Given the description of an element on the screen output the (x, y) to click on. 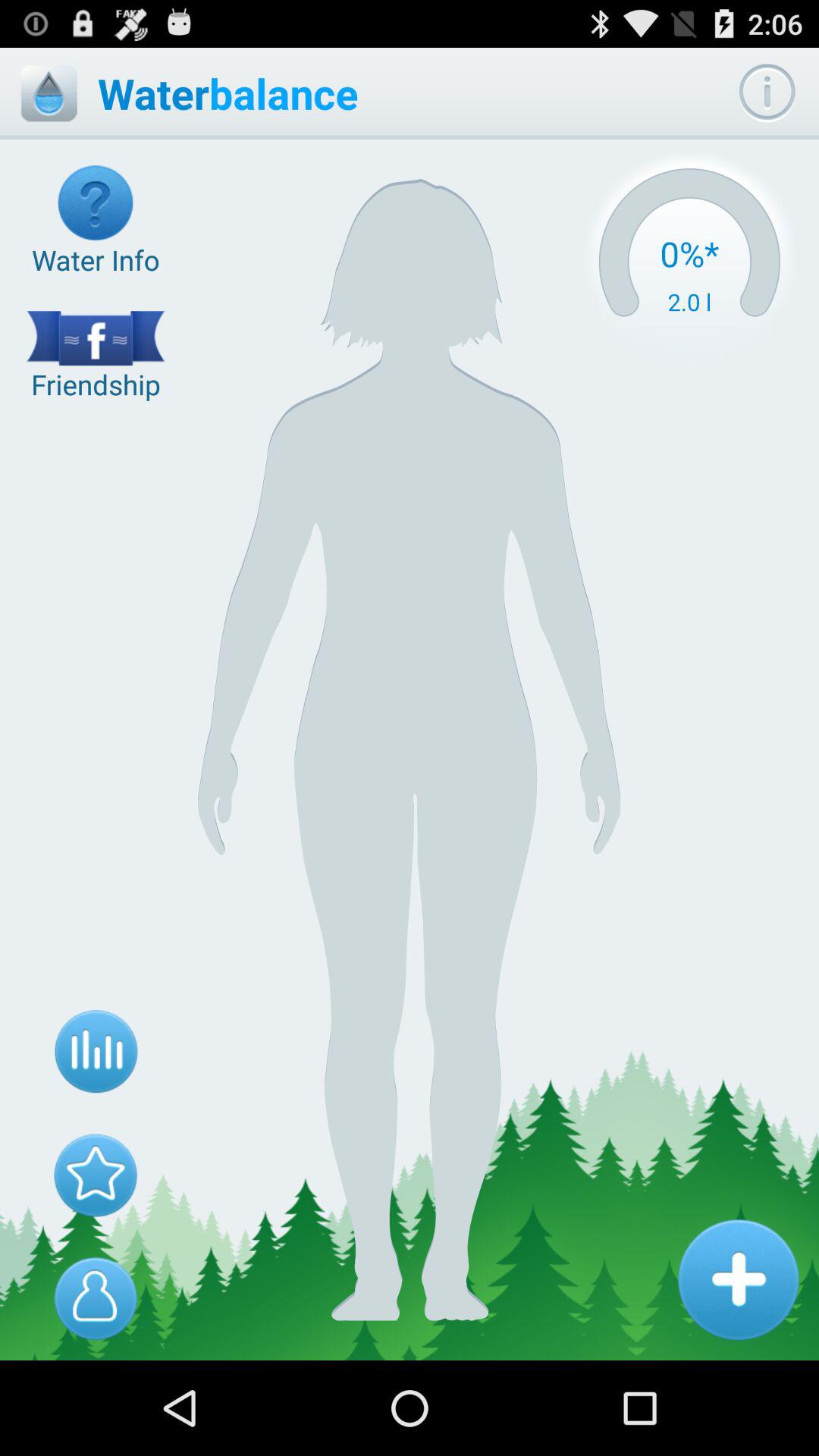
tap the water info button (95, 221)
